Given the description of an element on the screen output the (x, y) to click on. 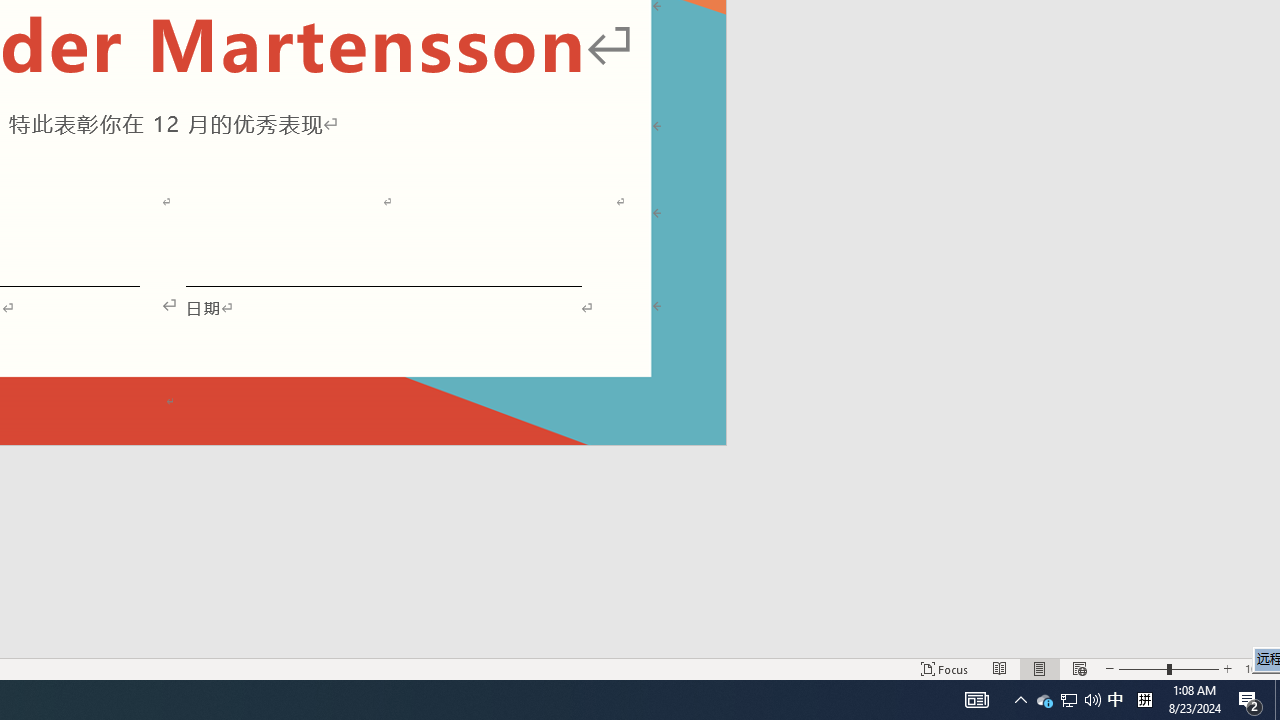
Zoom 100% (1258, 668)
